Given the description of an element on the screen output the (x, y) to click on. 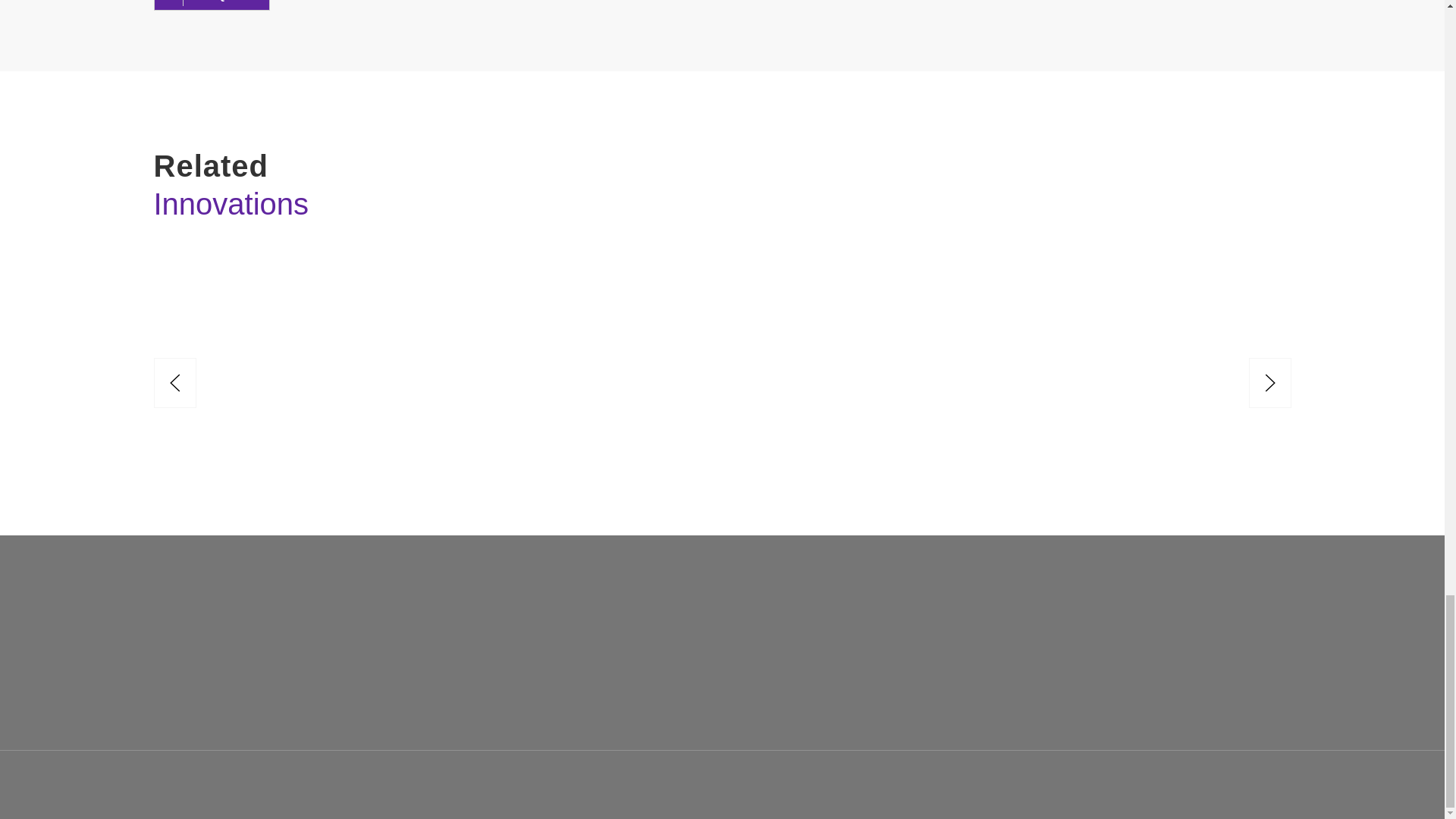
ENQUIRY (210, 5)
